Given the description of an element on the screen output the (x, y) to click on. 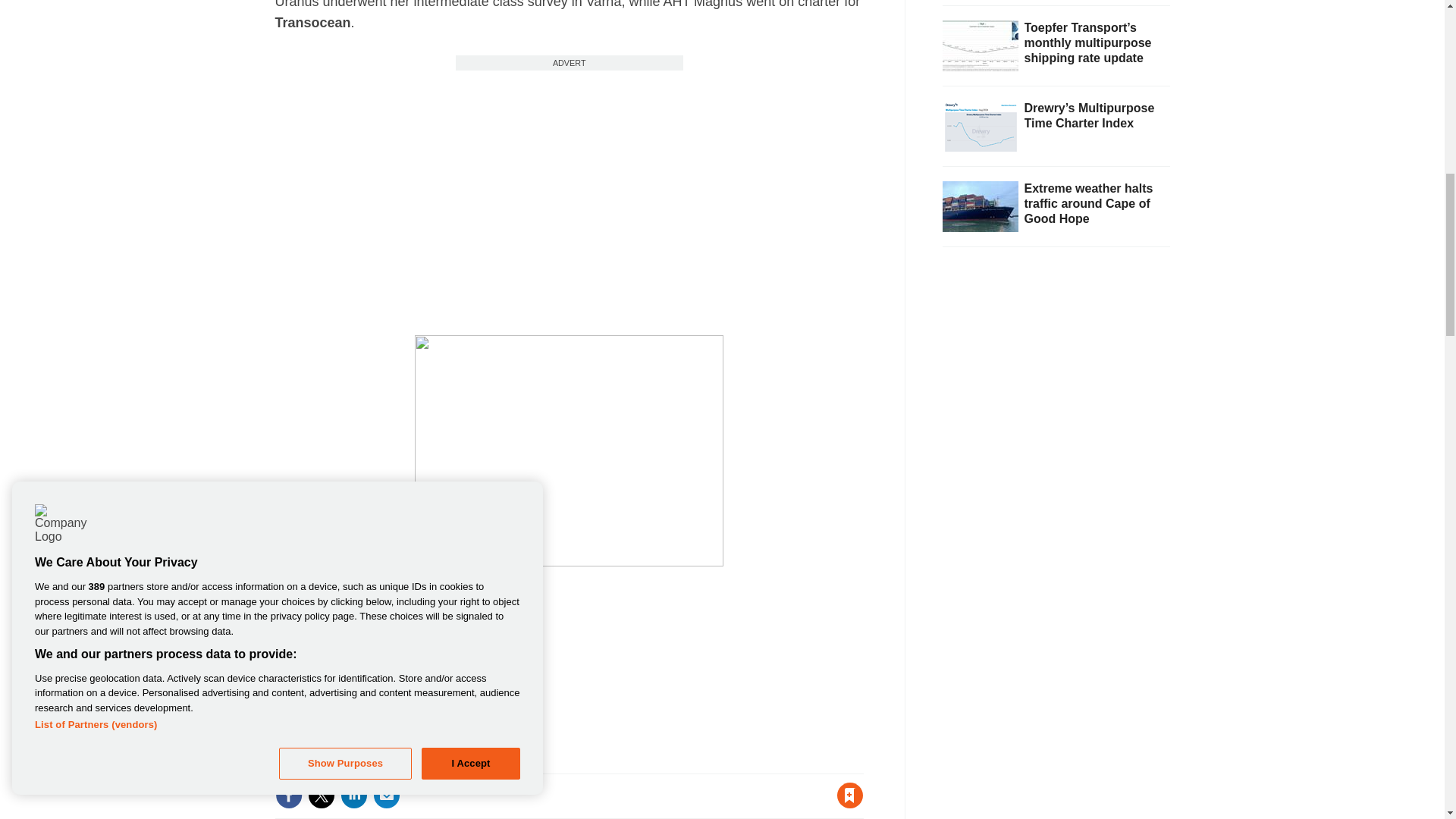
Share this on Linked in (352, 795)
Share this on Facebook (288, 795)
3rd party ad content (568, 165)
Email this article (386, 795)
Share this on Twitter (320, 795)
